Given the description of an element on the screen output the (x, y) to click on. 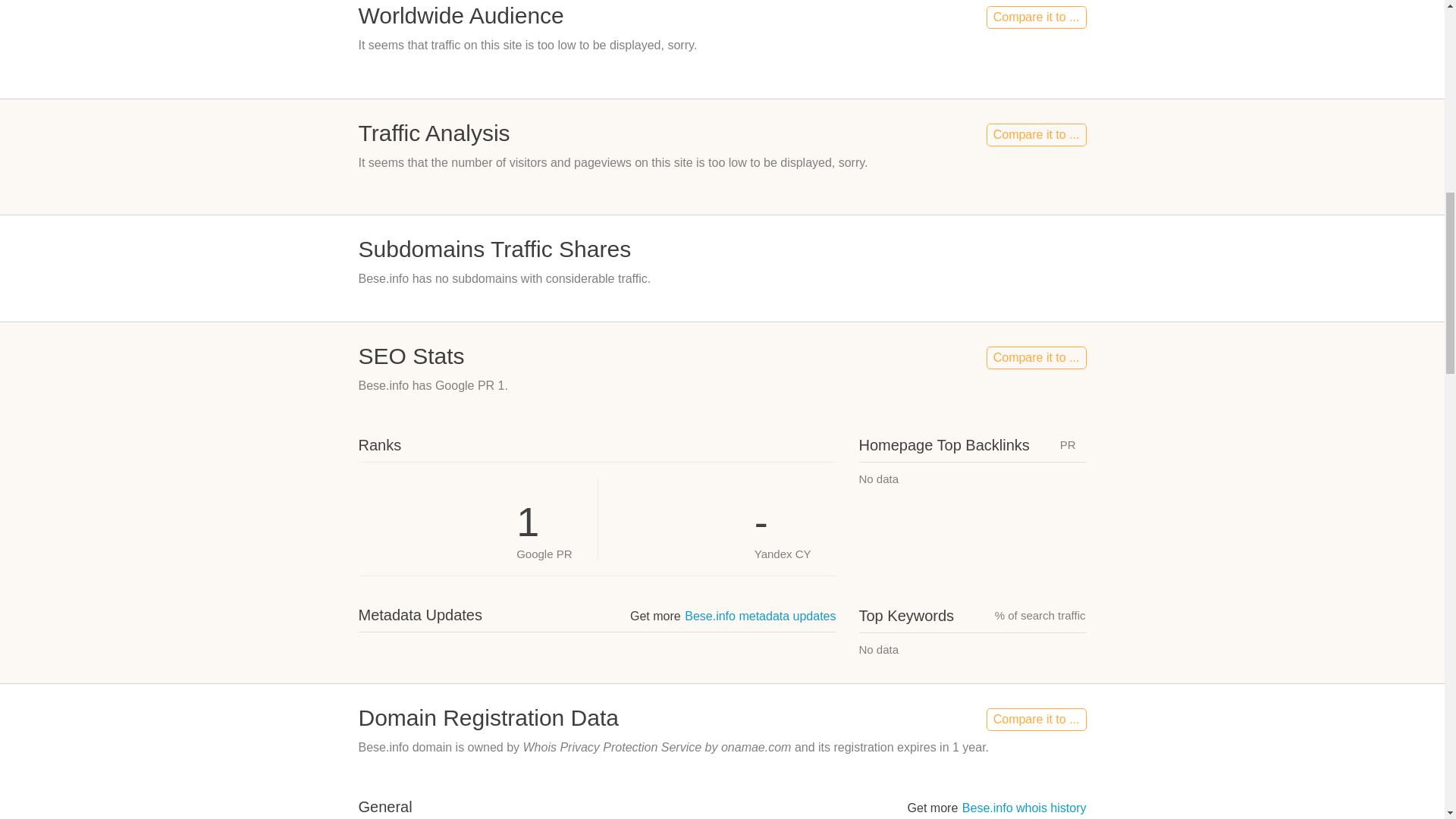
Compare it to ... (1036, 719)
Bese.info whois history (1024, 807)
Bese.info metadata updates (759, 615)
Compare it to ... (1036, 134)
Compare it to ... (1036, 16)
Compare it to ... (1036, 357)
